Given the description of an element on the screen output the (x, y) to click on. 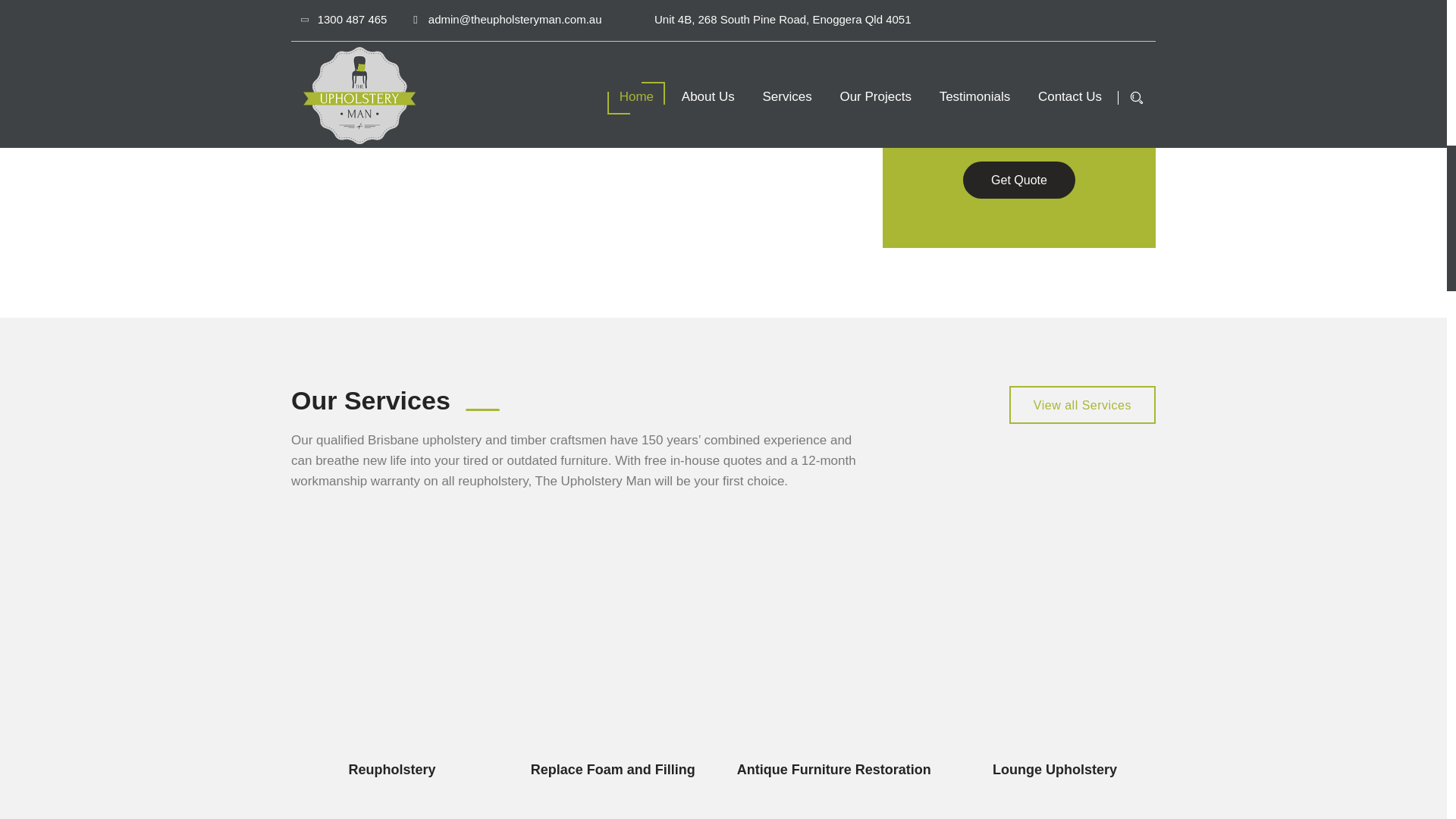
View all Services (1082, 404)
Get Quote (1018, 180)
Get Quote (1018, 180)
